Given the description of an element on the screen output the (x, y) to click on. 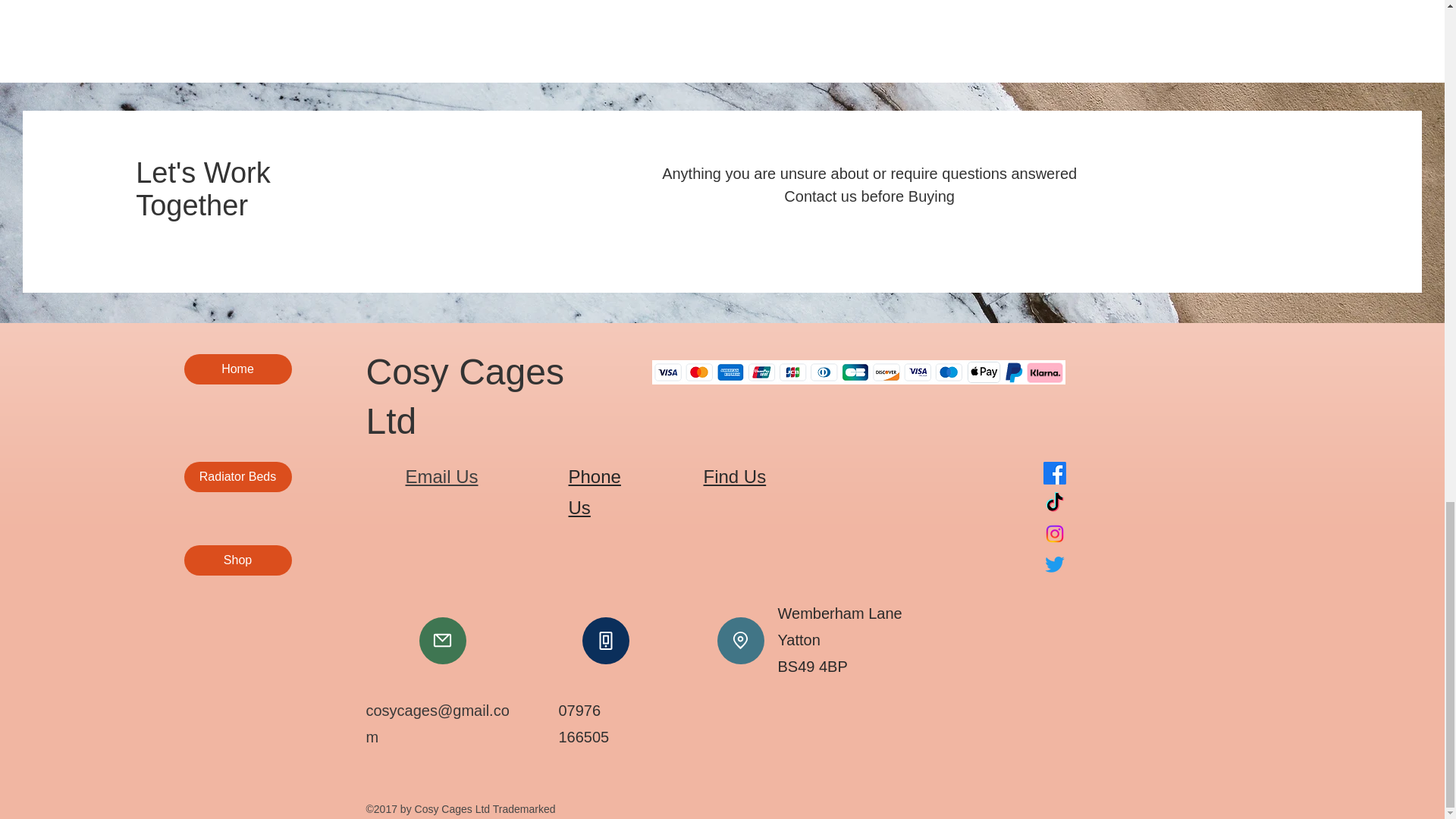
BS49 4BP (812, 666)
Wemberham Lane (839, 613)
Home (237, 368)
07976 166505 (582, 723)
Yatton (799, 639)
Phone Us (595, 491)
Email Us (440, 476)
Radiator Beds (237, 476)
Shop (237, 560)
